Given the description of an element on the screen output the (x, y) to click on. 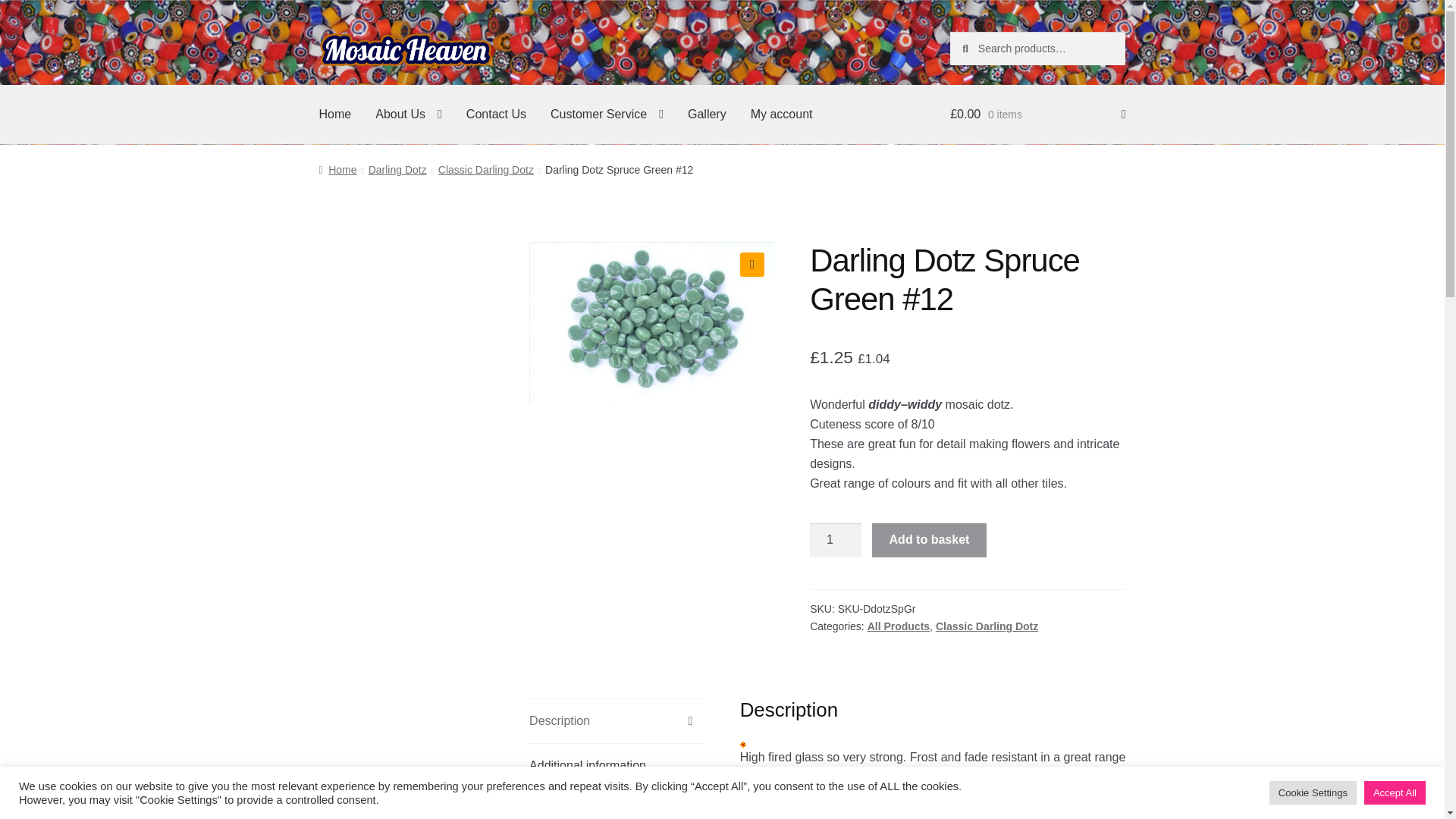
About Us (408, 114)
Gallery (706, 114)
Home (335, 114)
Customer Service (606, 114)
My account (781, 114)
Classic Darling Dotz (486, 169)
Home (337, 169)
View your shopping basket (1037, 114)
dotzsprucegreen1000.jpg (651, 322)
Contact Us (496, 114)
